Given the description of an element on the screen output the (x, y) to click on. 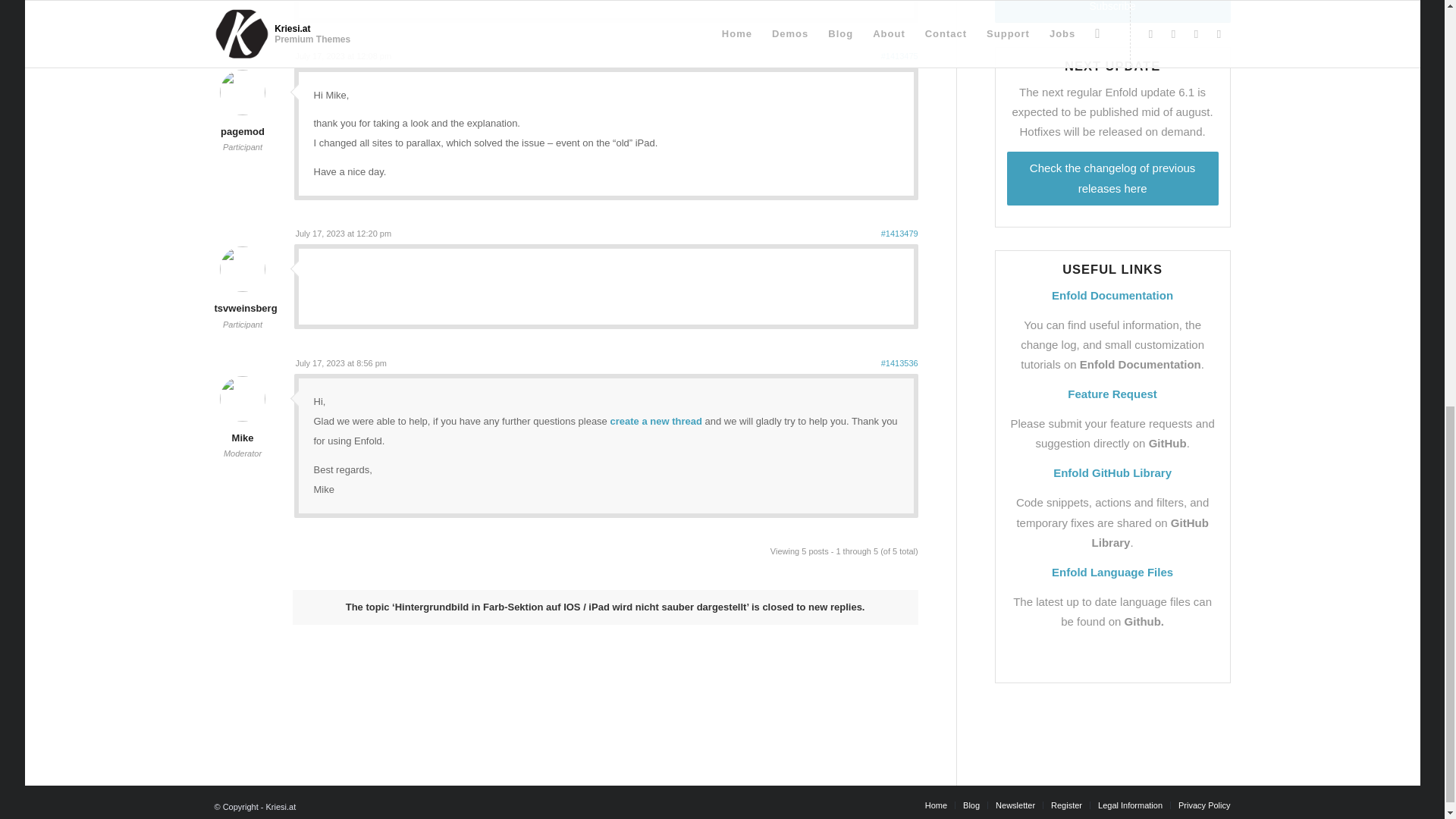
Participant (242, 324)
pagemod (241, 121)
View pagemod's profile (241, 121)
tsvweinsberg (245, 297)
View Mike's profile (241, 427)
create a new thread (655, 420)
Subscribe (1112, 11)
View tsvweinsberg's profile (245, 297)
Moderator (242, 452)
Participant (242, 146)
Mike (241, 427)
